Given the description of an element on the screen output the (x, y) to click on. 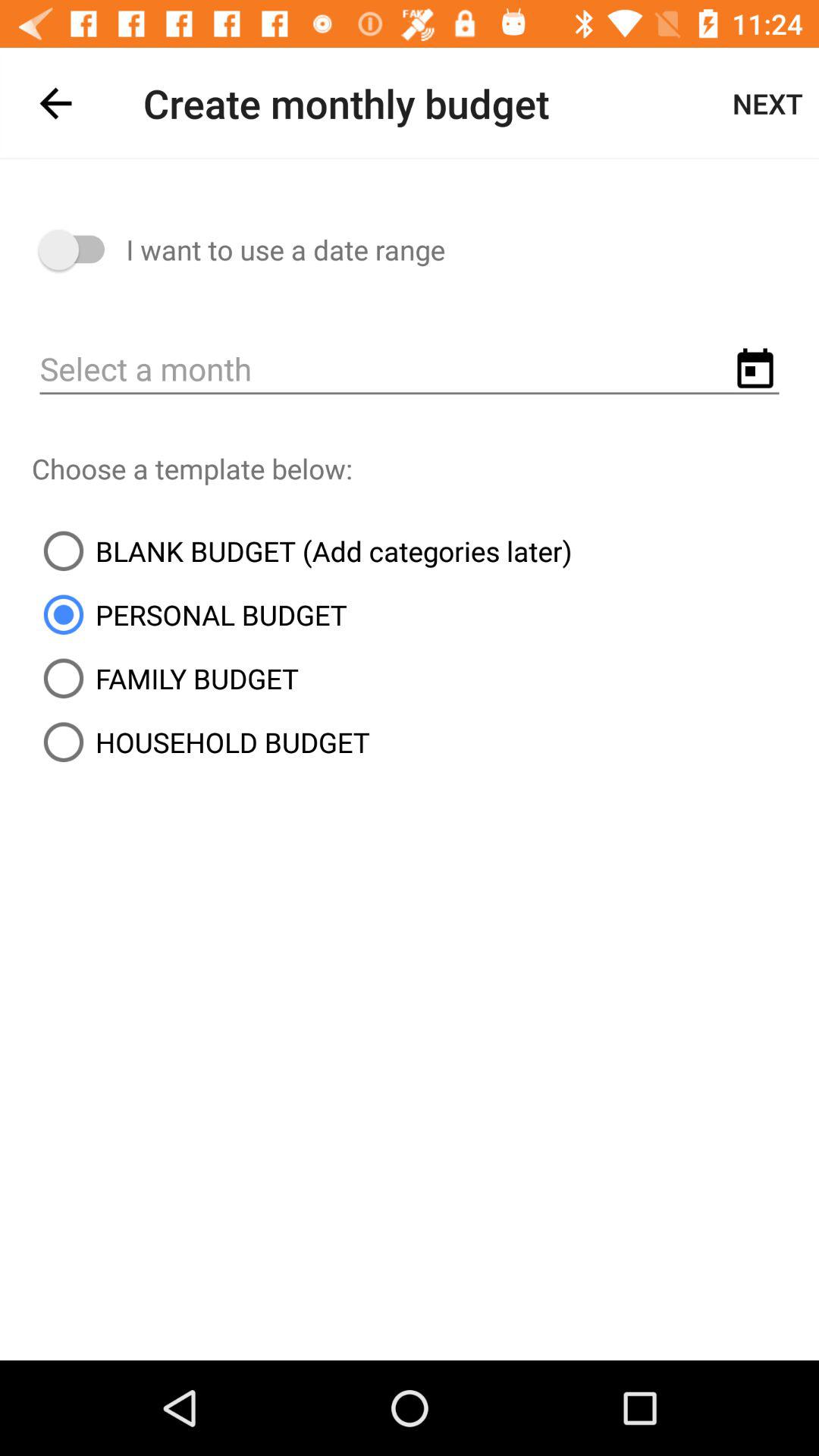
enter month (409, 370)
